Given the description of an element on the screen output the (x, y) to click on. 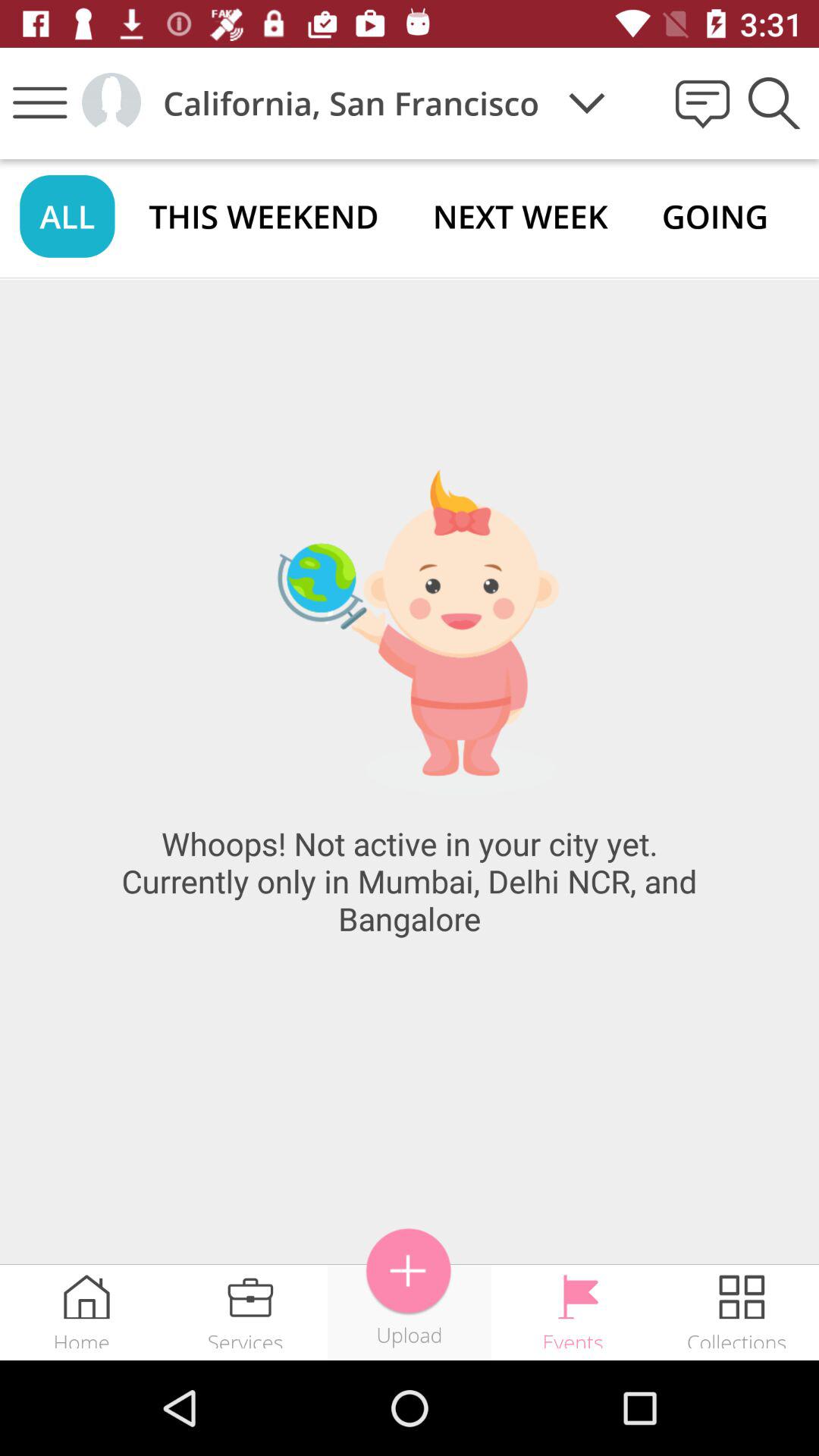
select icon to the left of california, san francisco icon (111, 102)
